Given the description of an element on the screen output the (x, y) to click on. 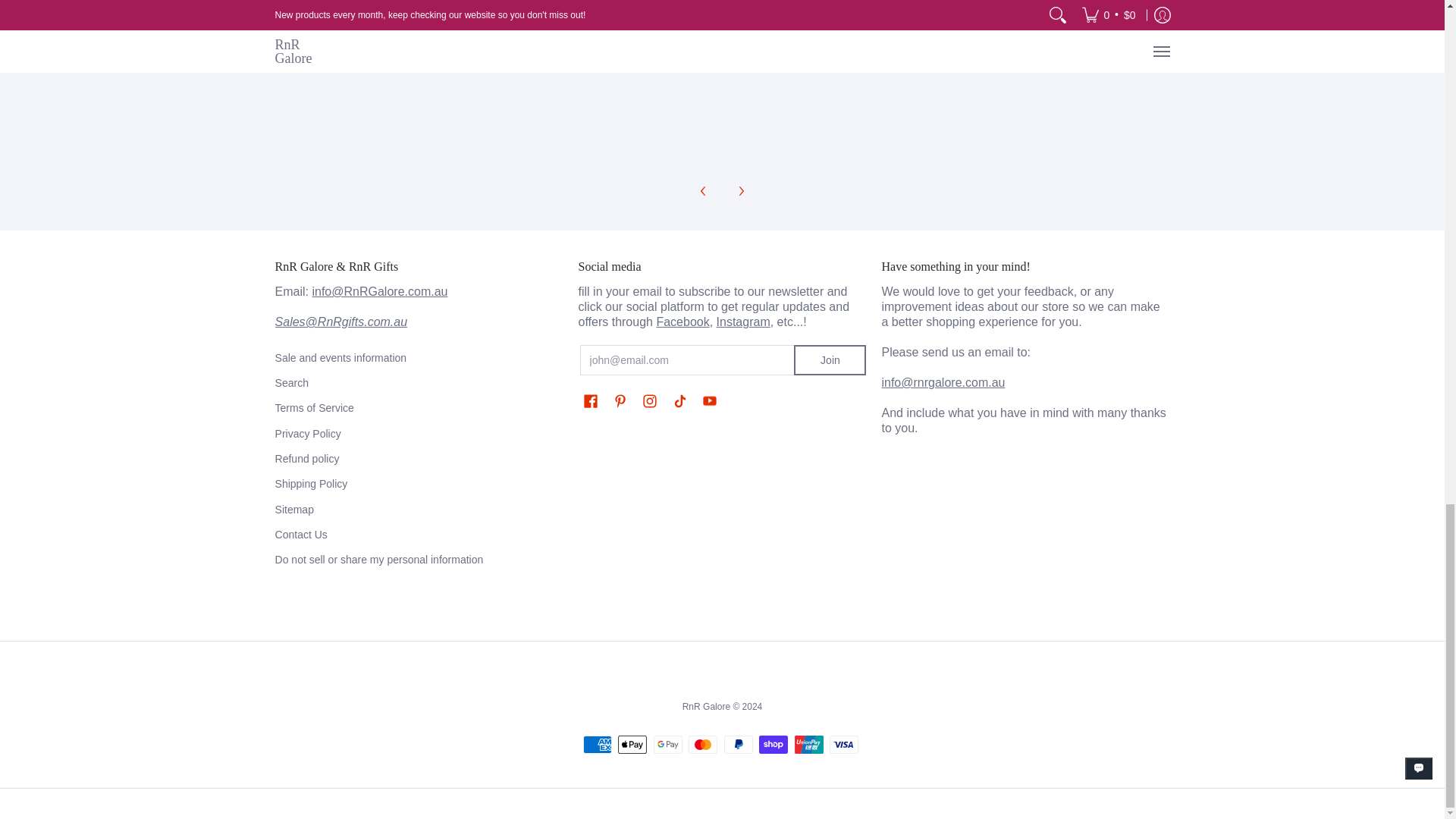
American Express (597, 744)
